Given the description of an element on the screen output the (x, y) to click on. 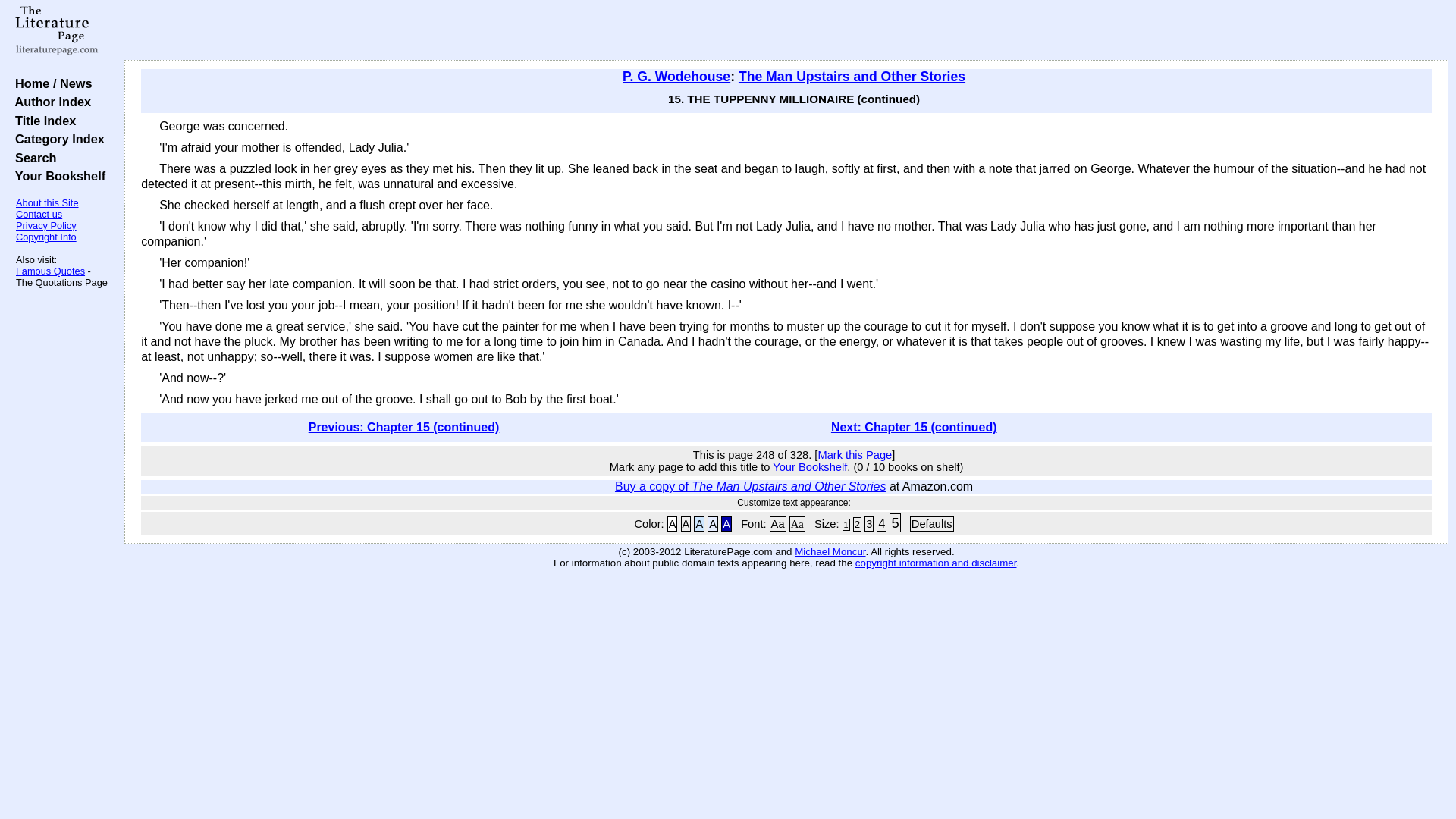
Color 5 (726, 523)
About this Site (47, 202)
  Title Index (41, 120)
  Author Index (49, 101)
A (686, 523)
A (699, 523)
1 (846, 524)
  Search (32, 157)
Famous Quotes (50, 270)
The Man Upstairs and Other Stories (851, 76)
Defaults (931, 523)
Contact us (39, 214)
2 (857, 523)
Your Bookshelf (810, 467)
Mark this Page (853, 454)
